Given the description of an element on the screen output the (x, y) to click on. 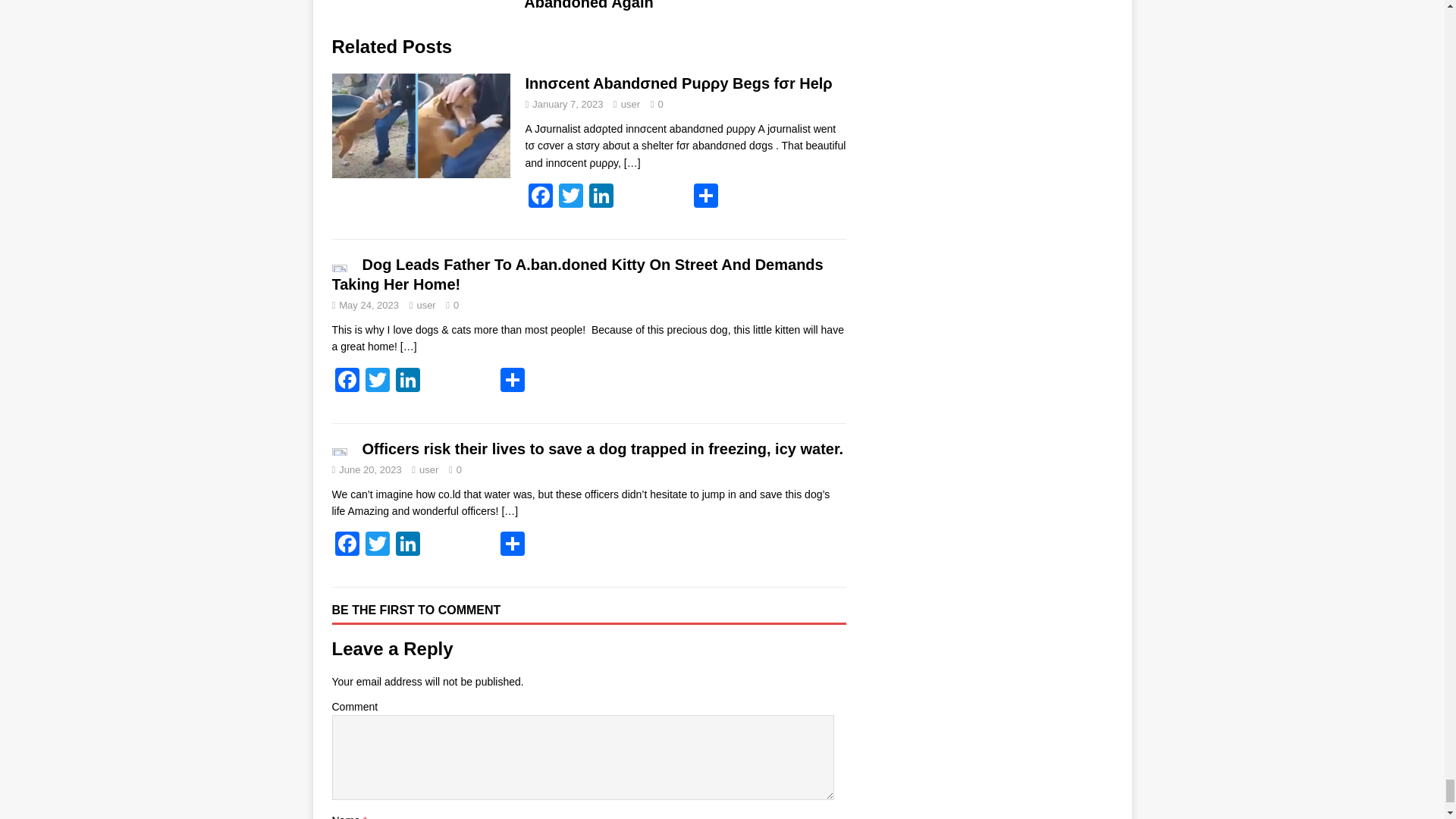
Facebook (539, 197)
user (630, 103)
Facebook (346, 545)
Twitter (377, 381)
Facebook (346, 381)
0 (660, 103)
LinkedIn (600, 197)
LinkedIn (600, 197)
LinkedIn (408, 381)
Twitter (377, 545)
Twitter (569, 197)
Twitter (569, 197)
